Given the description of an element on the screen output the (x, y) to click on. 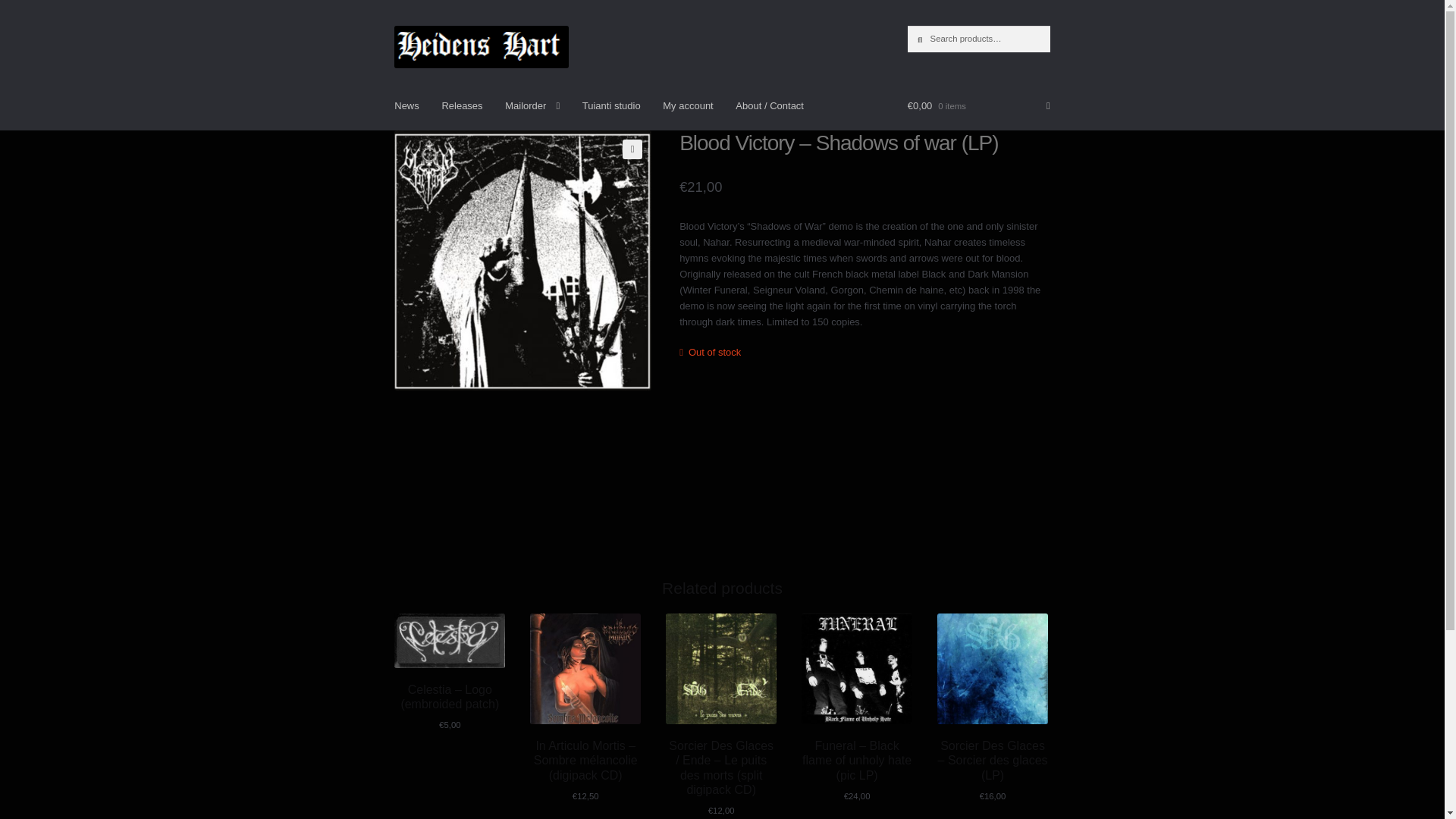
Tuianti studio (611, 105)
Mailorder (532, 105)
Releases (461, 105)
View your shopping basket (978, 105)
My account (687, 105)
News (406, 105)
